Given the description of an element on the screen output the (x, y) to click on. 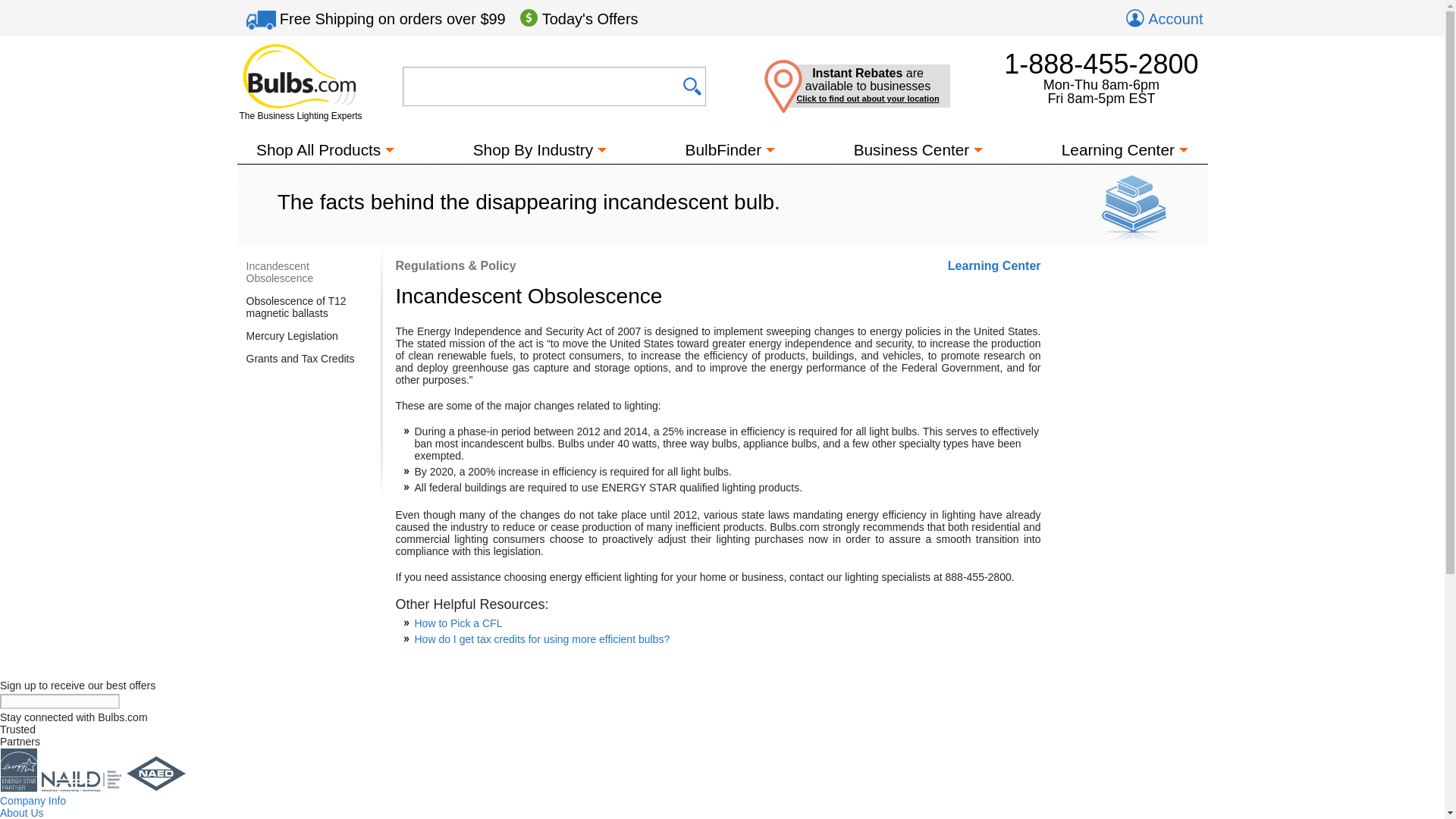
The Business Lighting Experts (299, 82)
1-888-455-2800 (1101, 63)
Search for Products (553, 86)
Click to View Details (392, 18)
Bulbs.com Home (299, 82)
Shop All Products (318, 151)
Account (1163, 18)
Click to find out about your location (867, 98)
